Given the description of an element on the screen output the (x, y) to click on. 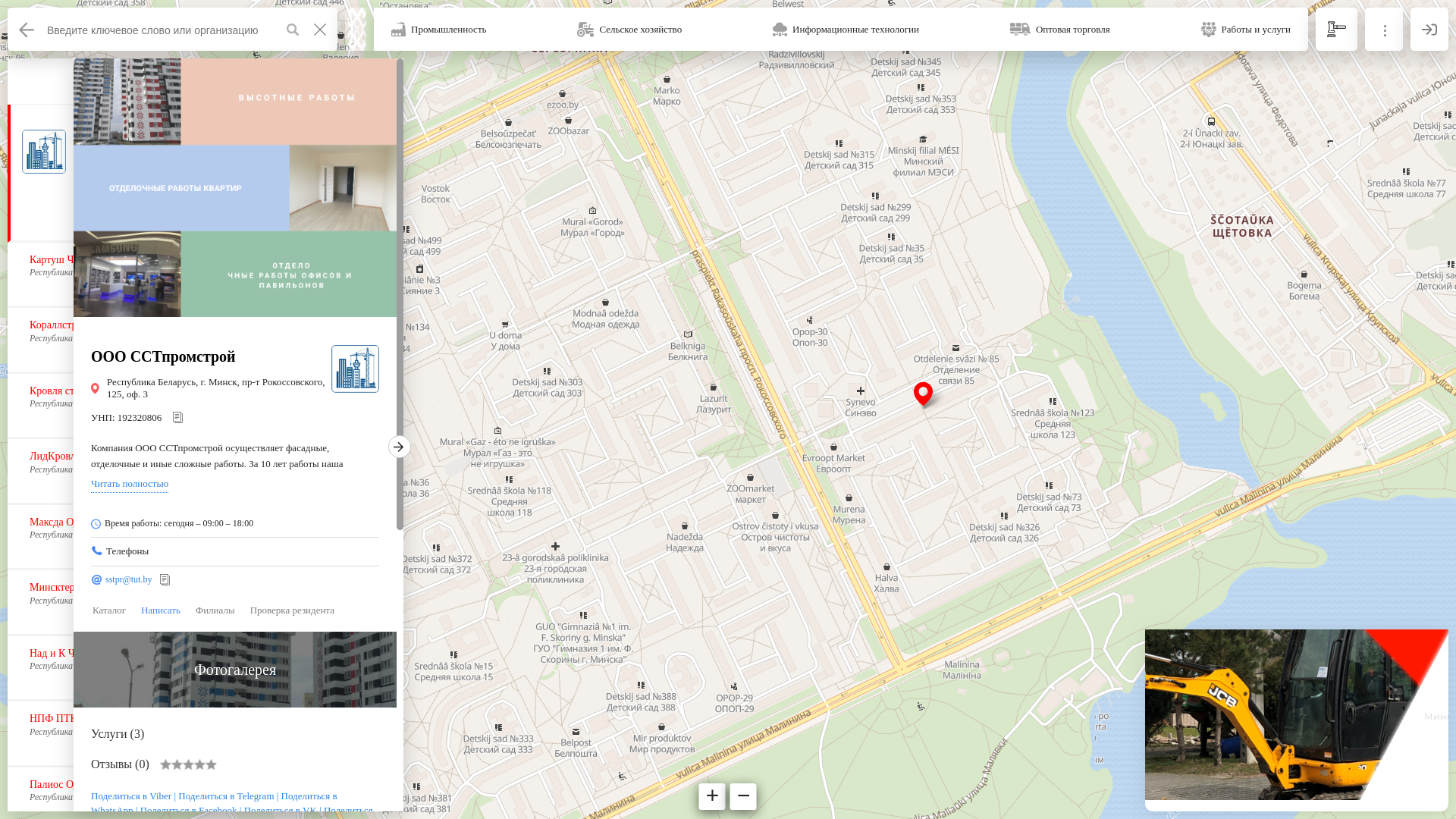
+ Element type: text (712, 796)
sstpr@tut.by Element type: text (128, 579)
button Element type: hover (292, 28)
